Given the description of an element on the screen output the (x, y) to click on. 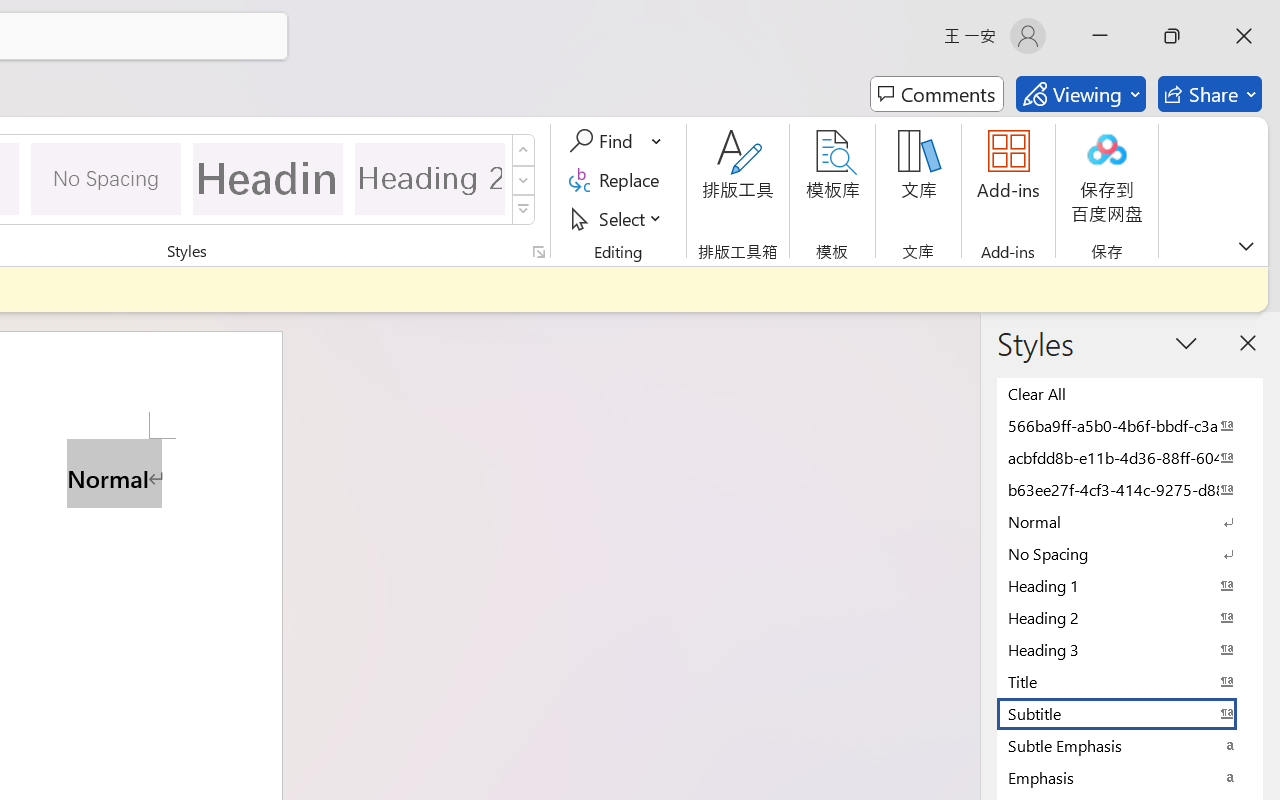
Row Down (523, 180)
Styles... (538, 252)
Heading 2 (429, 178)
Subtitle (1130, 713)
b63ee27f-4cf3-414c-9275-d88e3f90795e (1130, 489)
Title (1130, 681)
acbfdd8b-e11b-4d36-88ff-6049b138f862 (1130, 457)
Mode (1080, 94)
Replace... (617, 179)
